Given the description of an element on the screen output the (x, y) to click on. 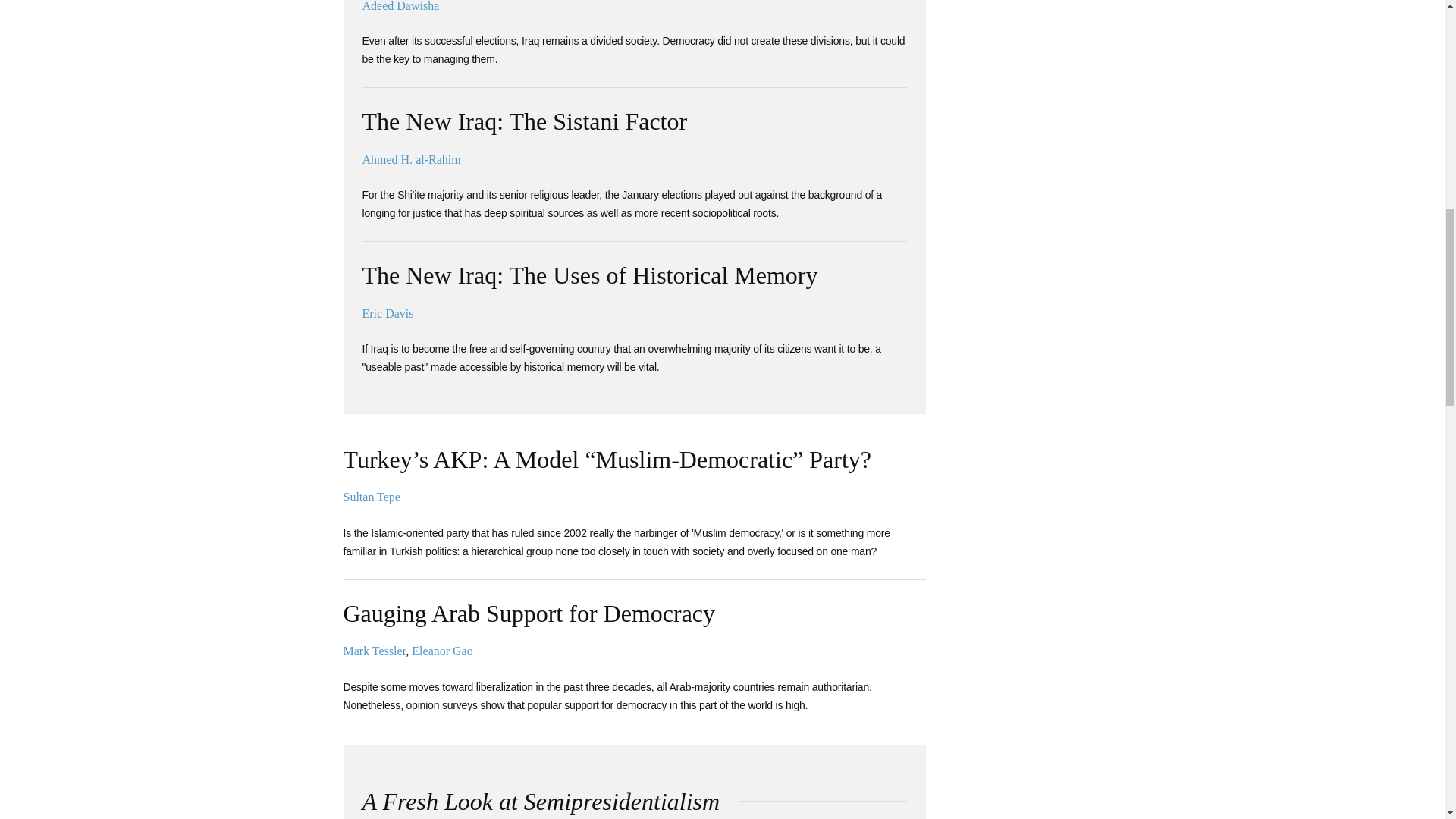
Ahmed H. al-Rahim (411, 159)
The New Iraq: The Sistani Factor (524, 121)
Adeed Dawisha (400, 6)
